Given the description of an element on the screen output the (x, y) to click on. 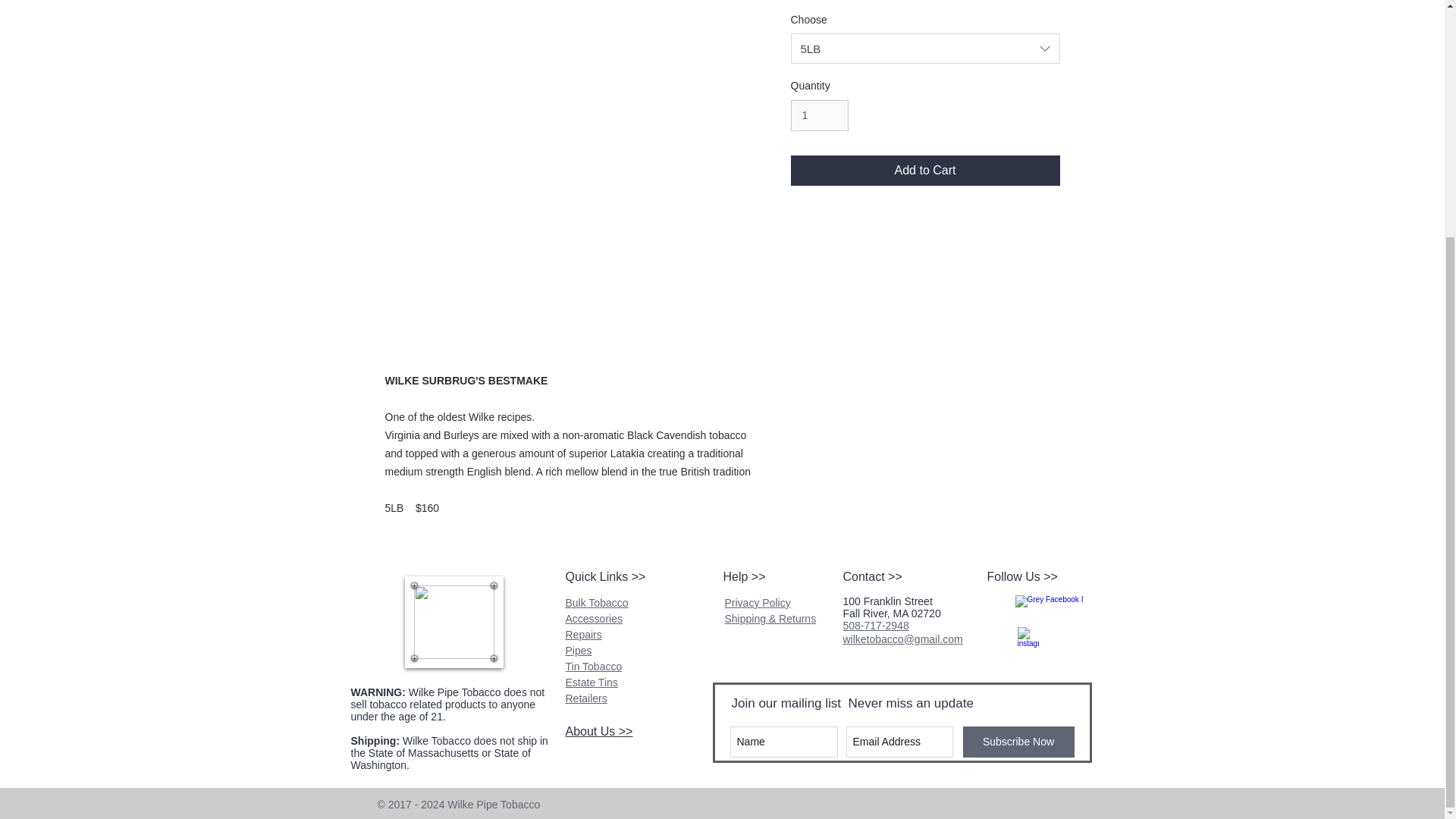
1 (818, 115)
